Given the description of an element on the screen output the (x, y) to click on. 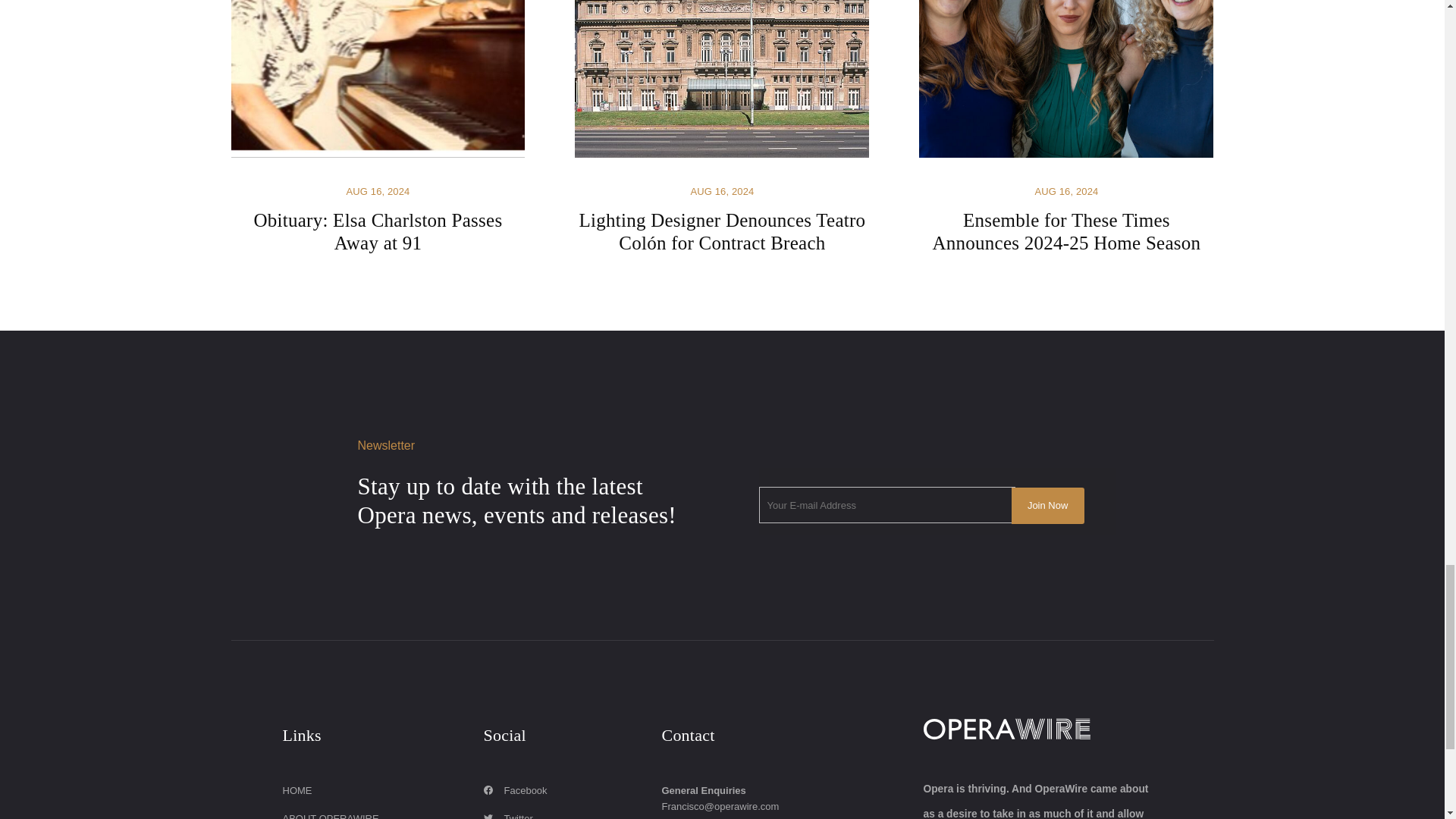
Join Now (1047, 505)
Permanent Link to Obituary: Elsa Charlston Passes Away at 91 (377, 127)
